Given the description of an element on the screen output the (x, y) to click on. 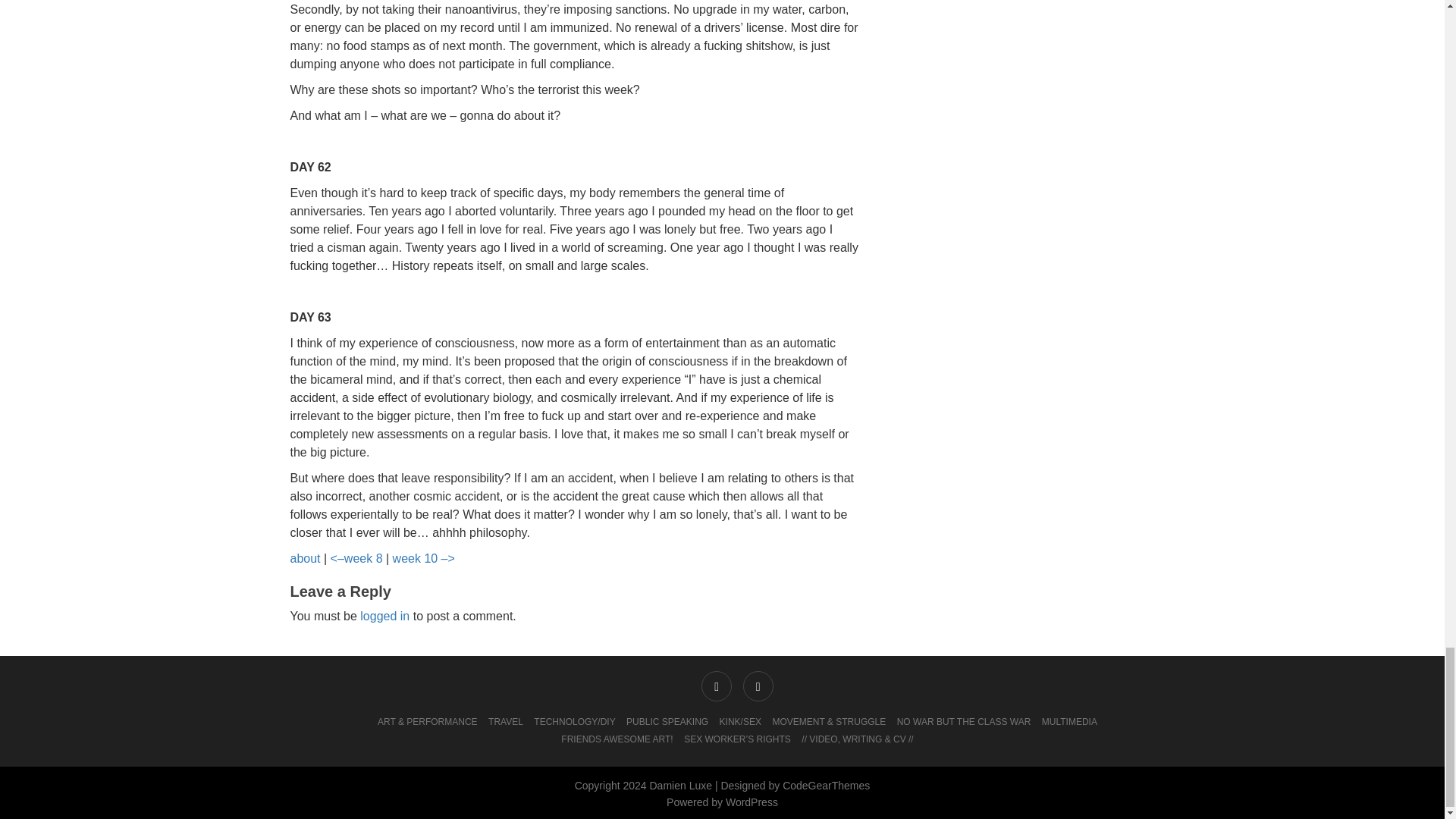
Polyester: Week 10 (423, 558)
about (304, 558)
Polyester, a Sci-Fi Novel (304, 558)
logged in (384, 615)
Polyester: Week 8 (356, 558)
